Given the description of an element on the screen output the (x, y) to click on. 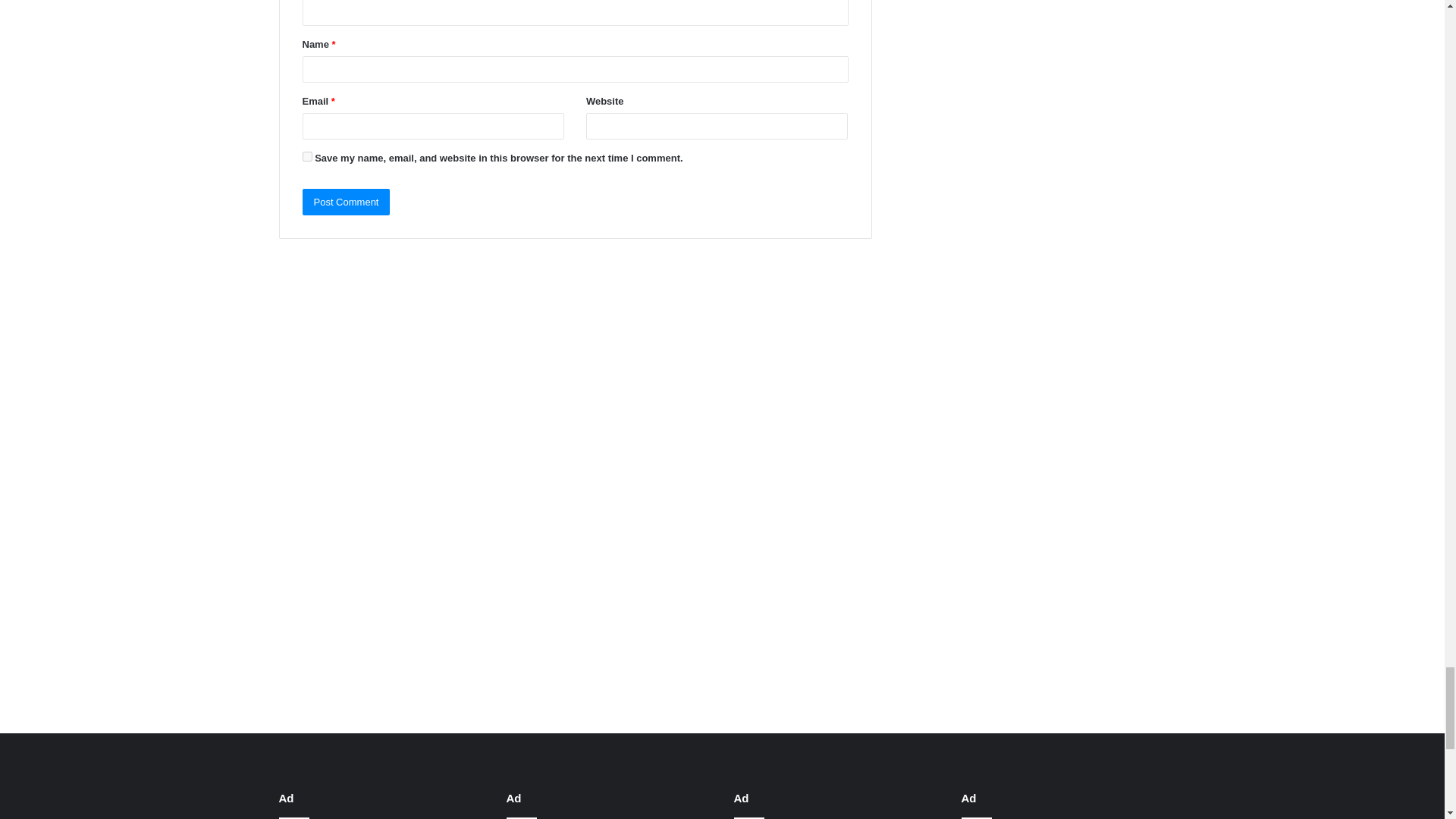
Post Comment (345, 202)
yes (306, 156)
